Given the description of an element on the screen output the (x, y) to click on. 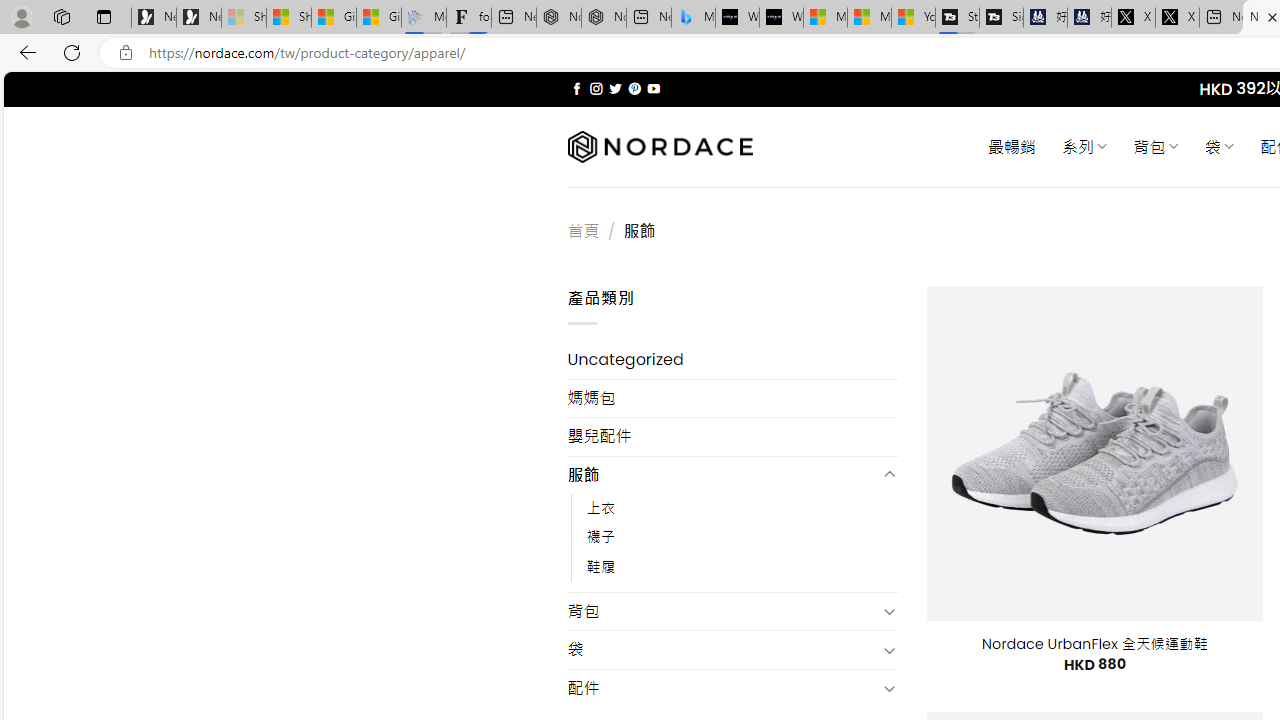
Tab actions menu (104, 16)
New tab (1220, 17)
What's the best AI voice generator? - voice.ai (781, 17)
Newsletter Sign Up (198, 17)
Nordace (659, 147)
Gilma and Hector both pose tropical trouble for Hawaii (378, 17)
Nordace (659, 147)
Microsoft Start Sports (825, 17)
Follow on Twitter (615, 88)
